Given the description of an element on the screen output the (x, y) to click on. 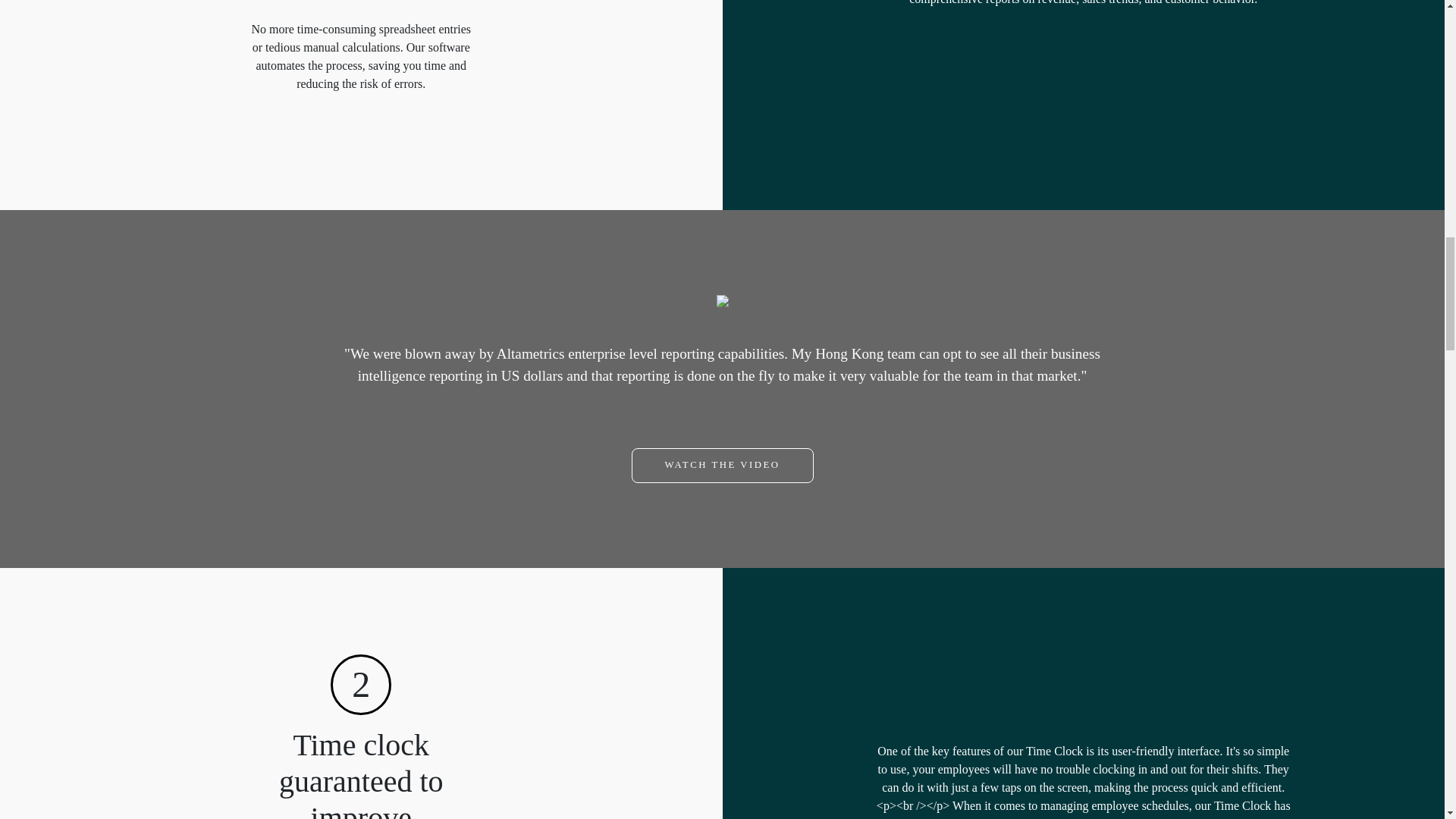
WATCH THE VIDEO (721, 465)
